Given the description of an element on the screen output the (x, y) to click on. 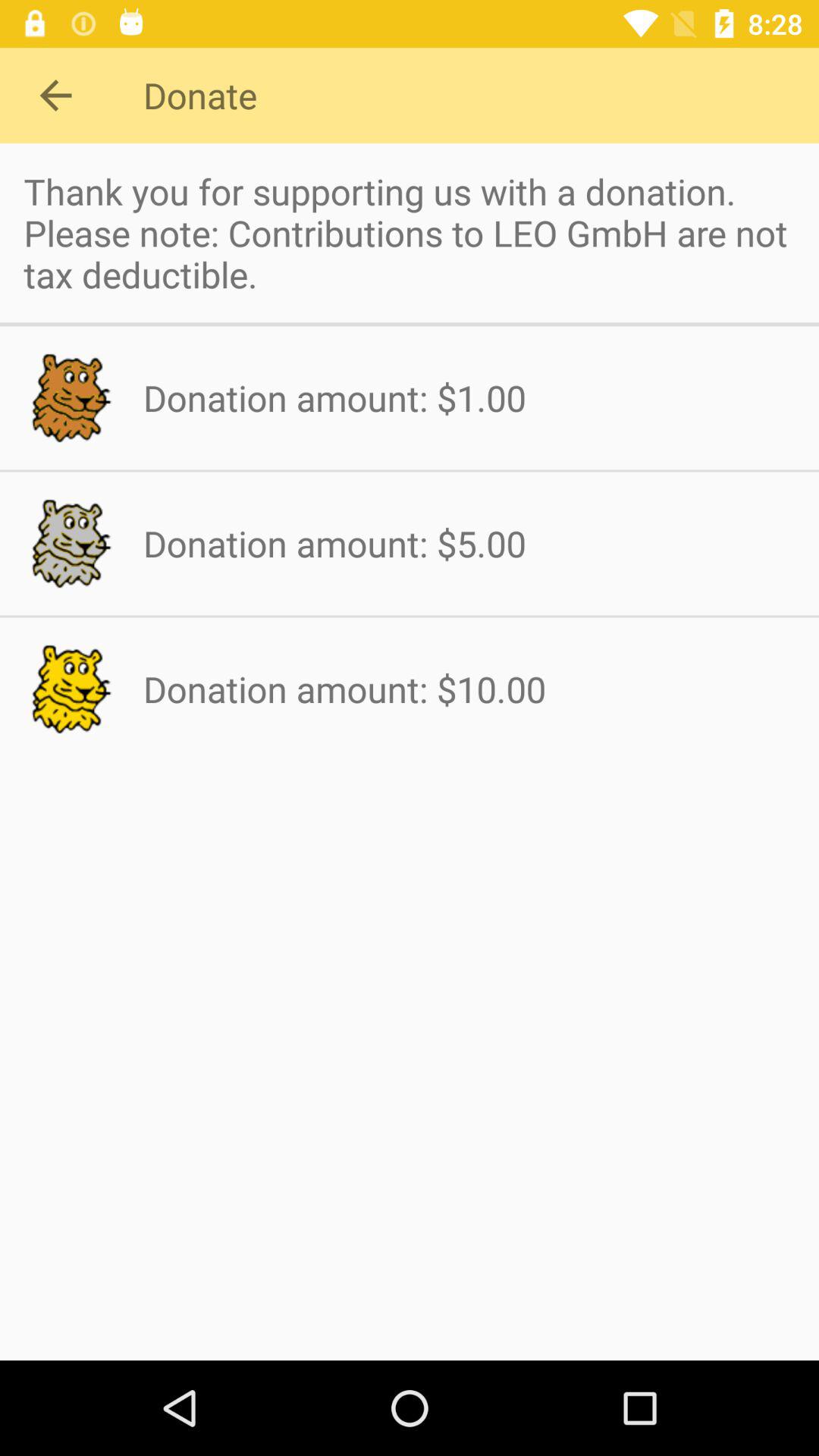
tap item to the left of donate (55, 95)
